Given the description of an element on the screen output the (x, y) to click on. 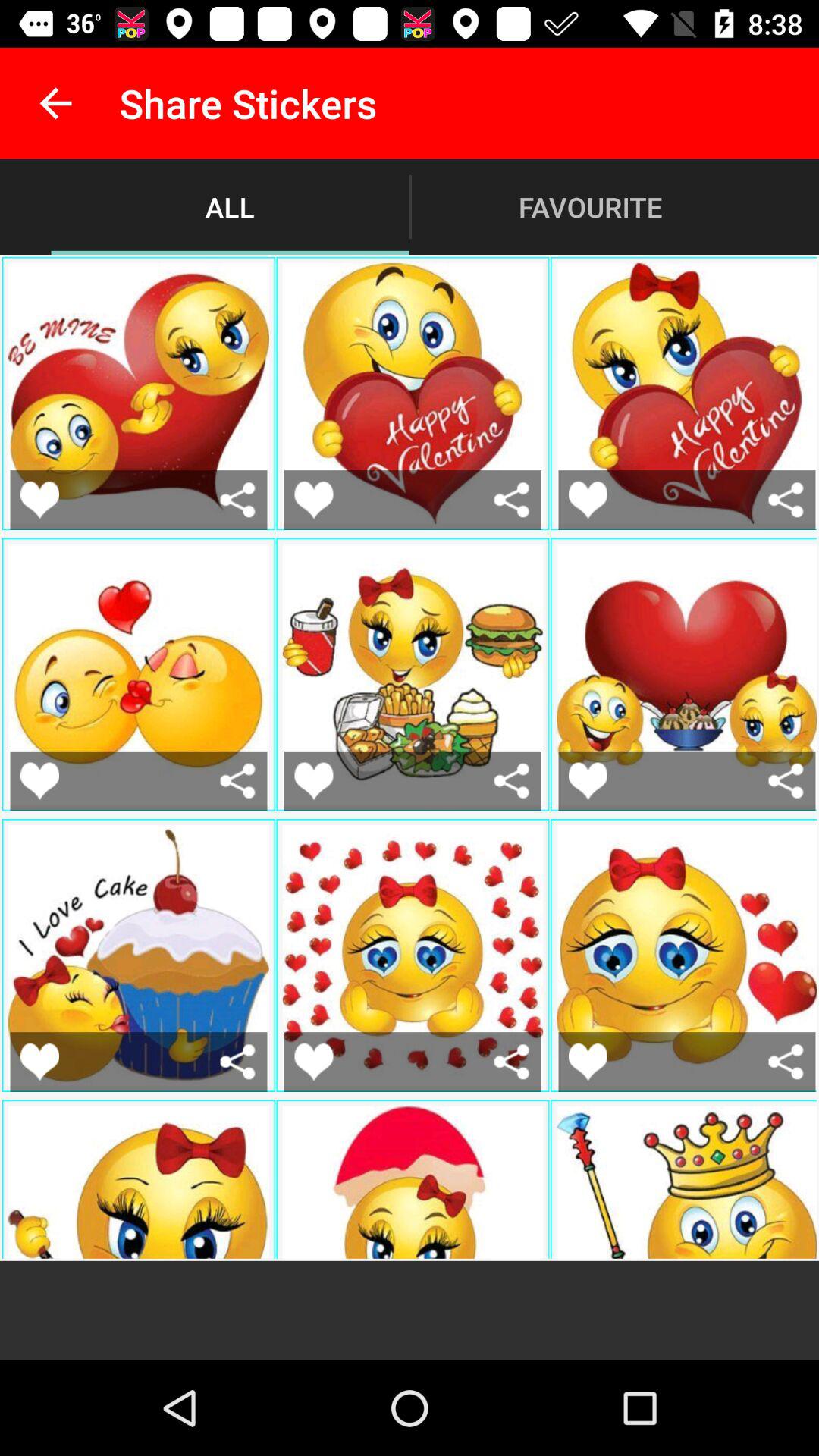
click to favorite (587, 780)
